Given the description of an element on the screen output the (x, y) to click on. 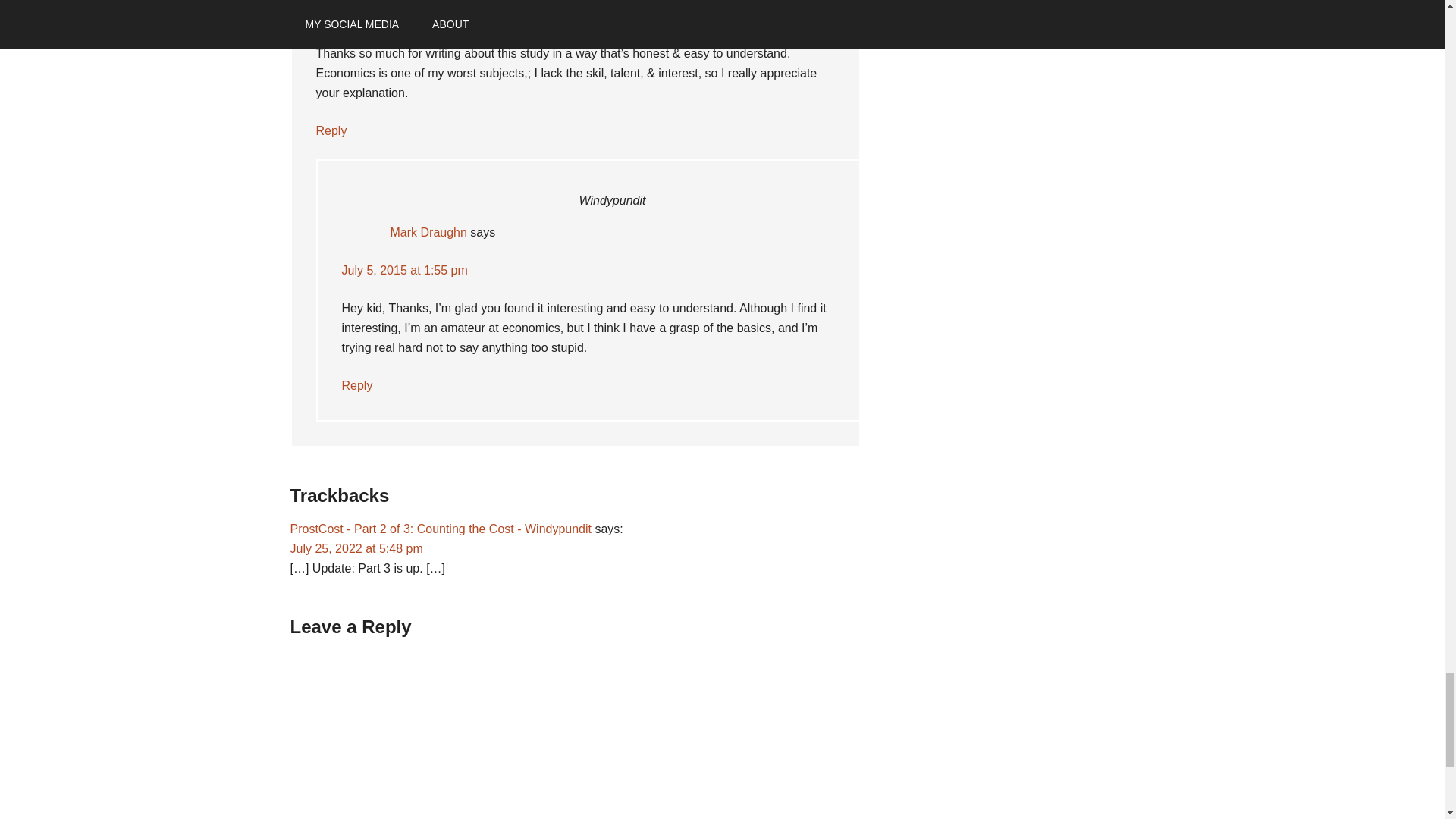
Reply (330, 130)
Comment Form (574, 734)
Reply (356, 385)
ProstCost - Part 2 of 3: Counting the Cost - Windypundit (440, 528)
July 25, 2022 at 5:48 pm (355, 548)
Mark Draughn (427, 232)
July 3, 2015 at 2:44 pm (378, 15)
July 5, 2015 at 1:55 pm (403, 269)
